Given the description of an element on the screen output the (x, y) to click on. 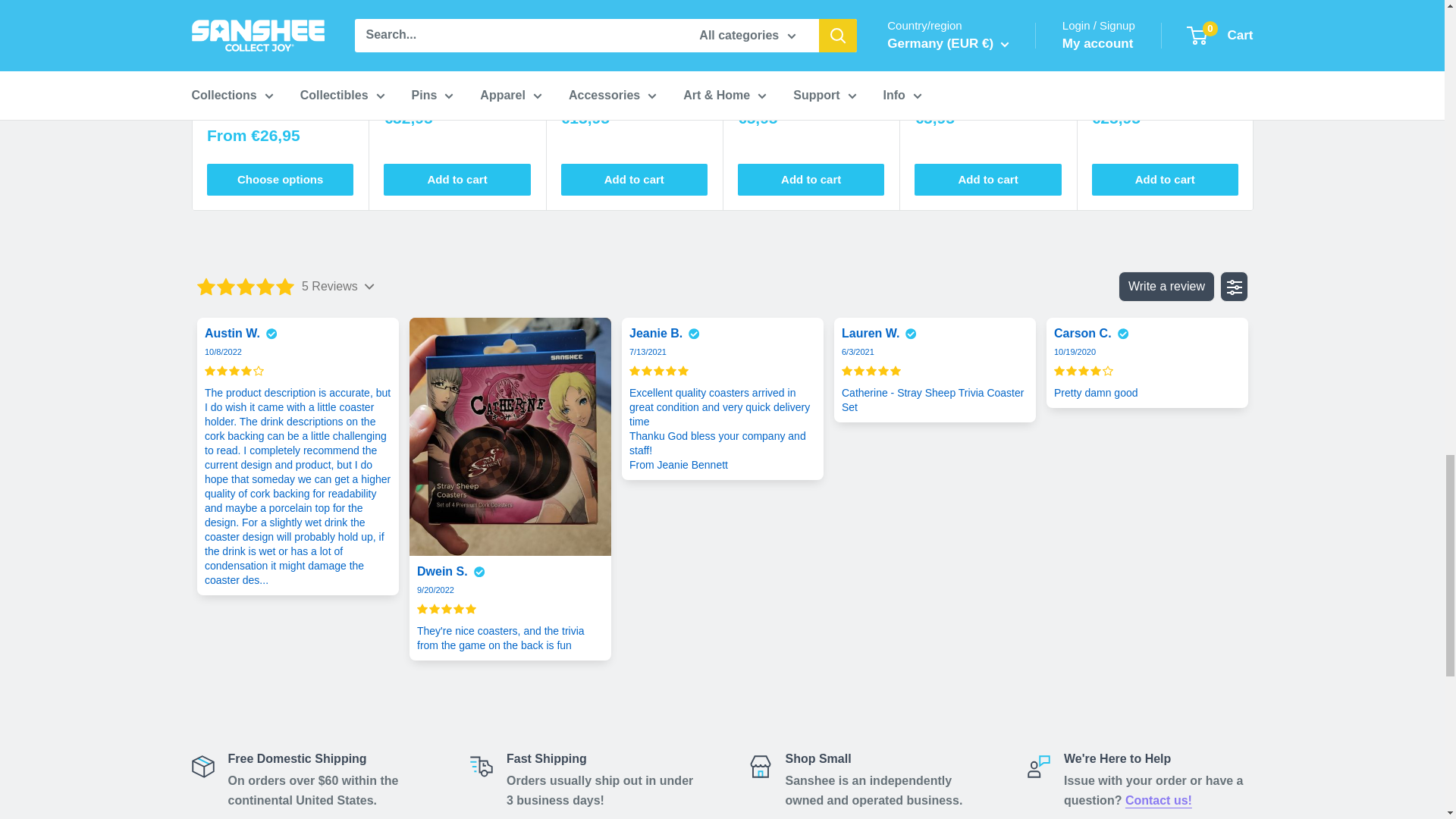
Contact Us! (1158, 799)
